Given the description of an element on the screen output the (x, y) to click on. 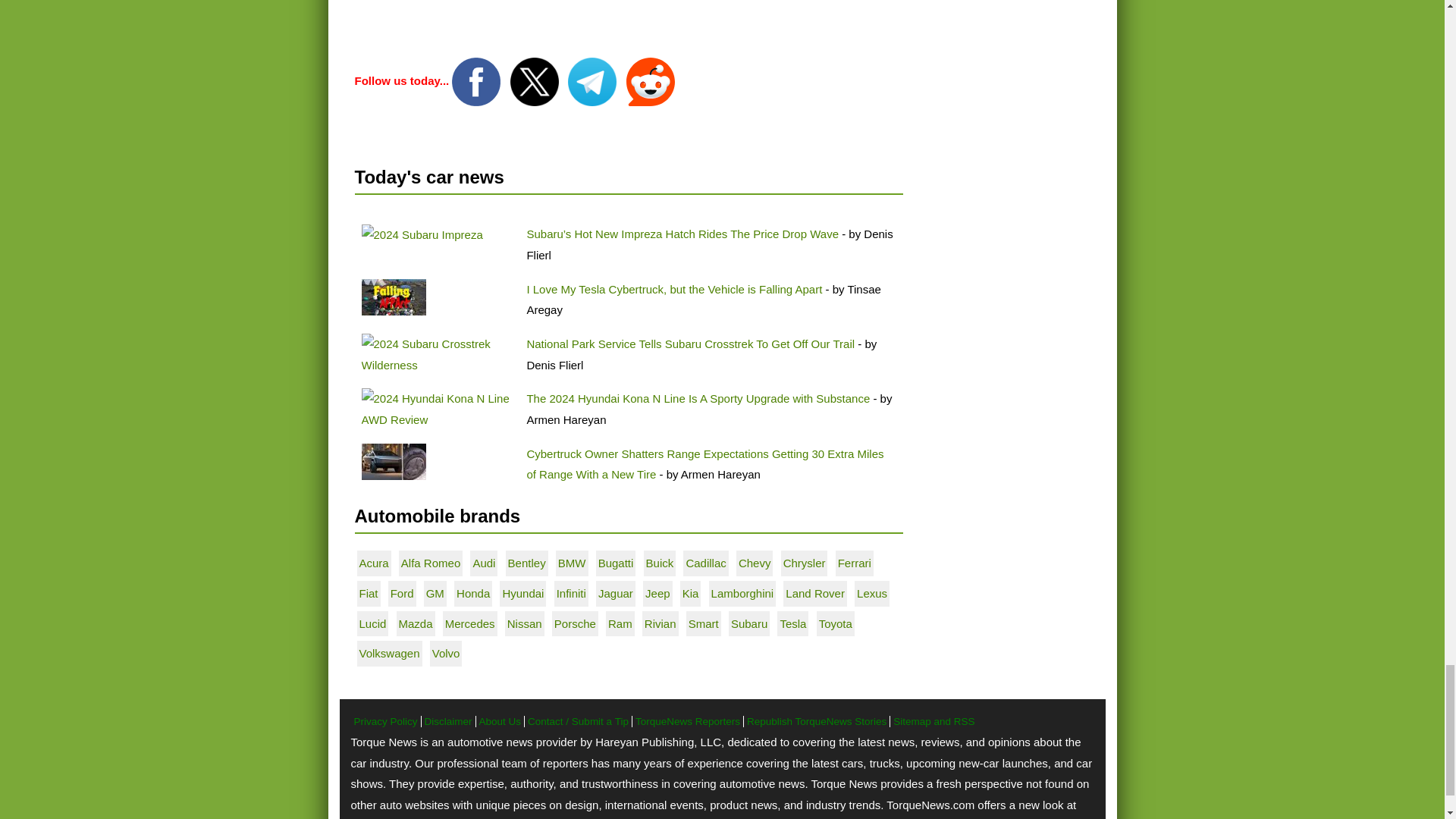
Join us on Telegram! (593, 80)
Join us on Reddit! (650, 80)
I Love My Tesla Cybertruck, but the Vehicle is Falling Apart (393, 297)
2024 Hyundai Kona N Line AWD Review (437, 408)
2024 Subaru Impreza RS front view (421, 234)
